Given the description of an element on the screen output the (x, y) to click on. 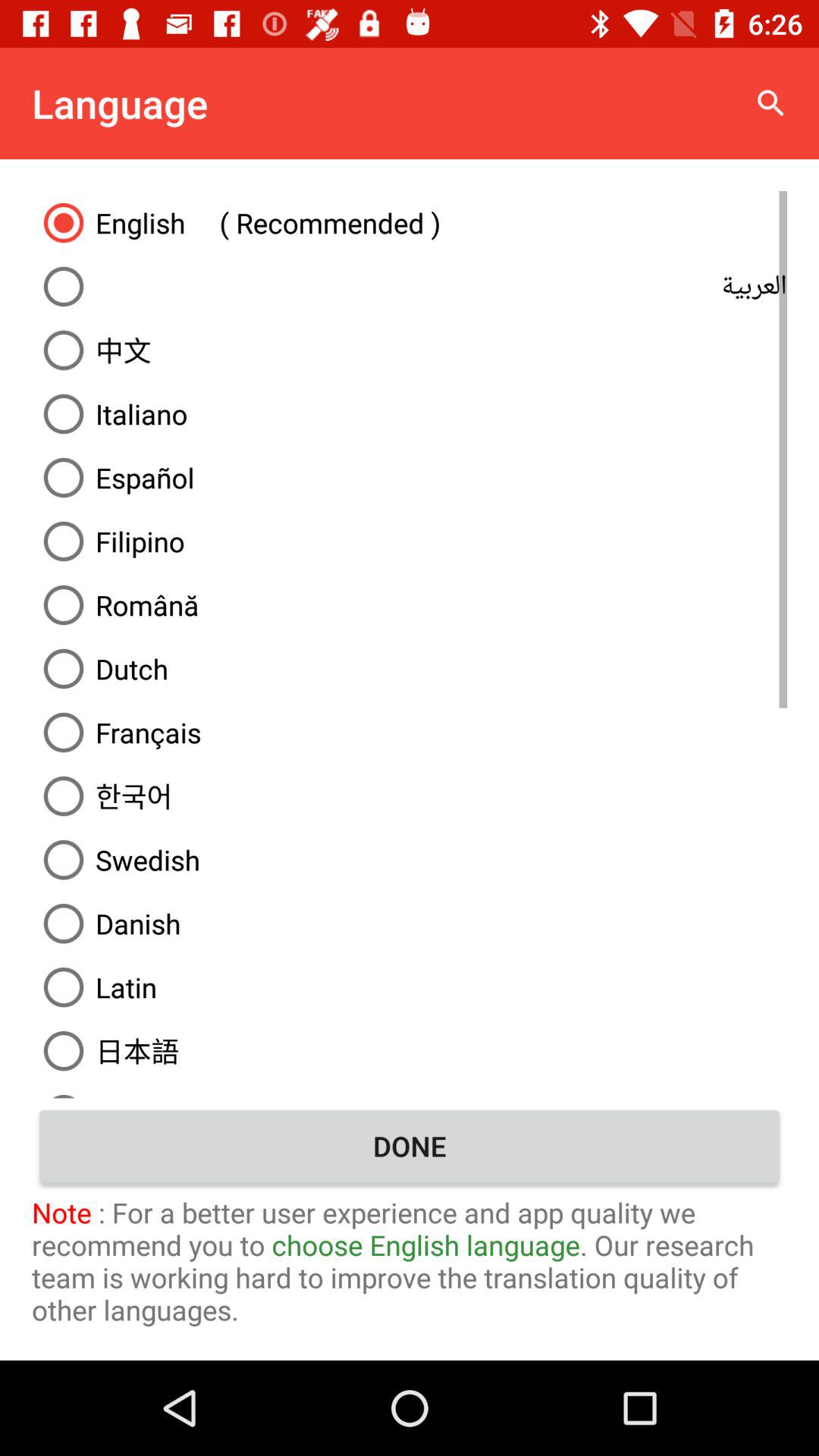
jump to the dutch item (409, 668)
